Given the description of an element on the screen output the (x, y) to click on. 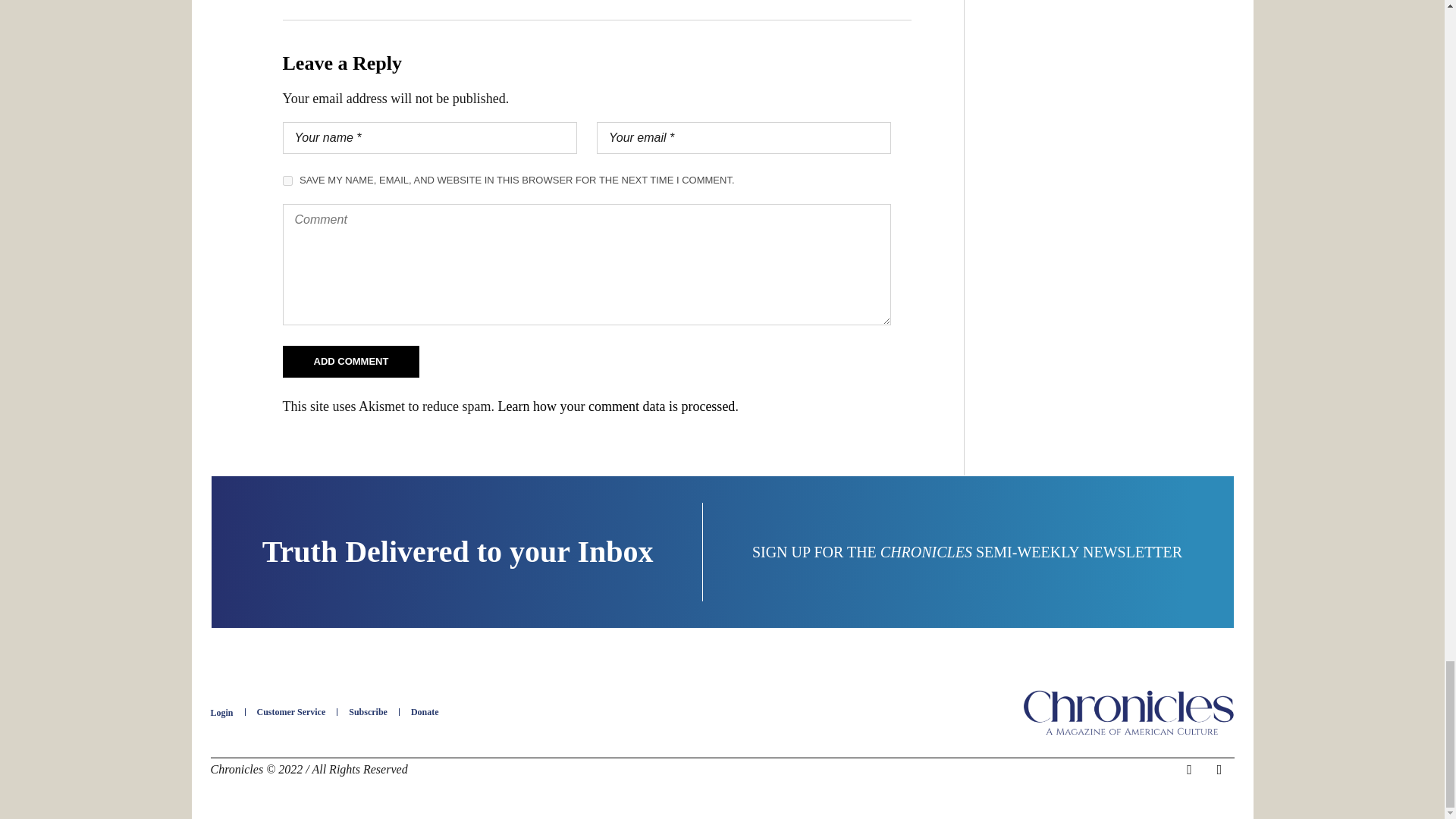
yes (287, 180)
Subscribe (368, 711)
Facebook (1189, 769)
Learn how your comment data is processed (616, 406)
Login (221, 712)
Twitter (1219, 769)
Customer Service (291, 711)
Add Comment (350, 361)
Add Comment (350, 361)
